Given the description of an element on the screen output the (x, y) to click on. 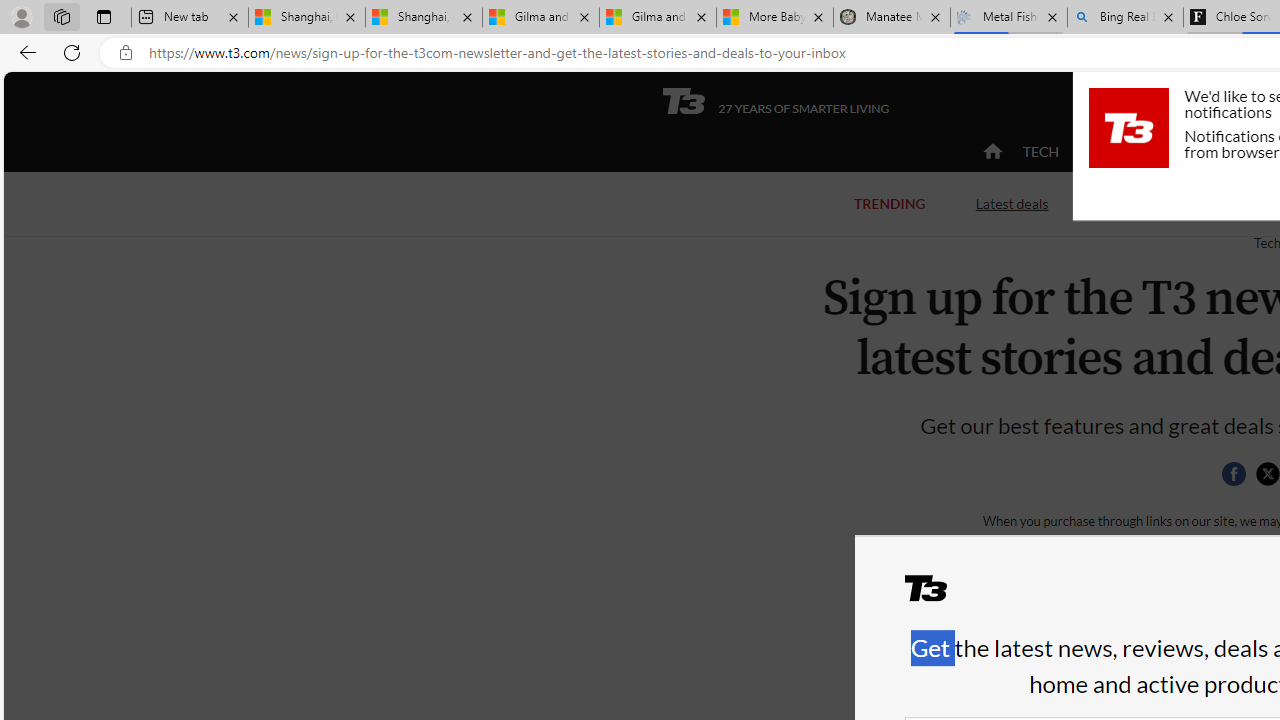
HOME LIVING (1233, 151)
Share this page on Twitter (1267, 474)
ACTIVE (1124, 151)
Manatee Mortality Statistics | FWC (891, 17)
Latest deals (1011, 204)
Back to Class 2024 (1178, 204)
Class: icon-svg (1267, 474)
Back to Class 2024 (1178, 202)
Gilma and Hector both pose tropical trouble for Hawaii (657, 17)
Class: social__item (1238, 477)
ACTIVE (1124, 151)
